Given the description of an element on the screen output the (x, y) to click on. 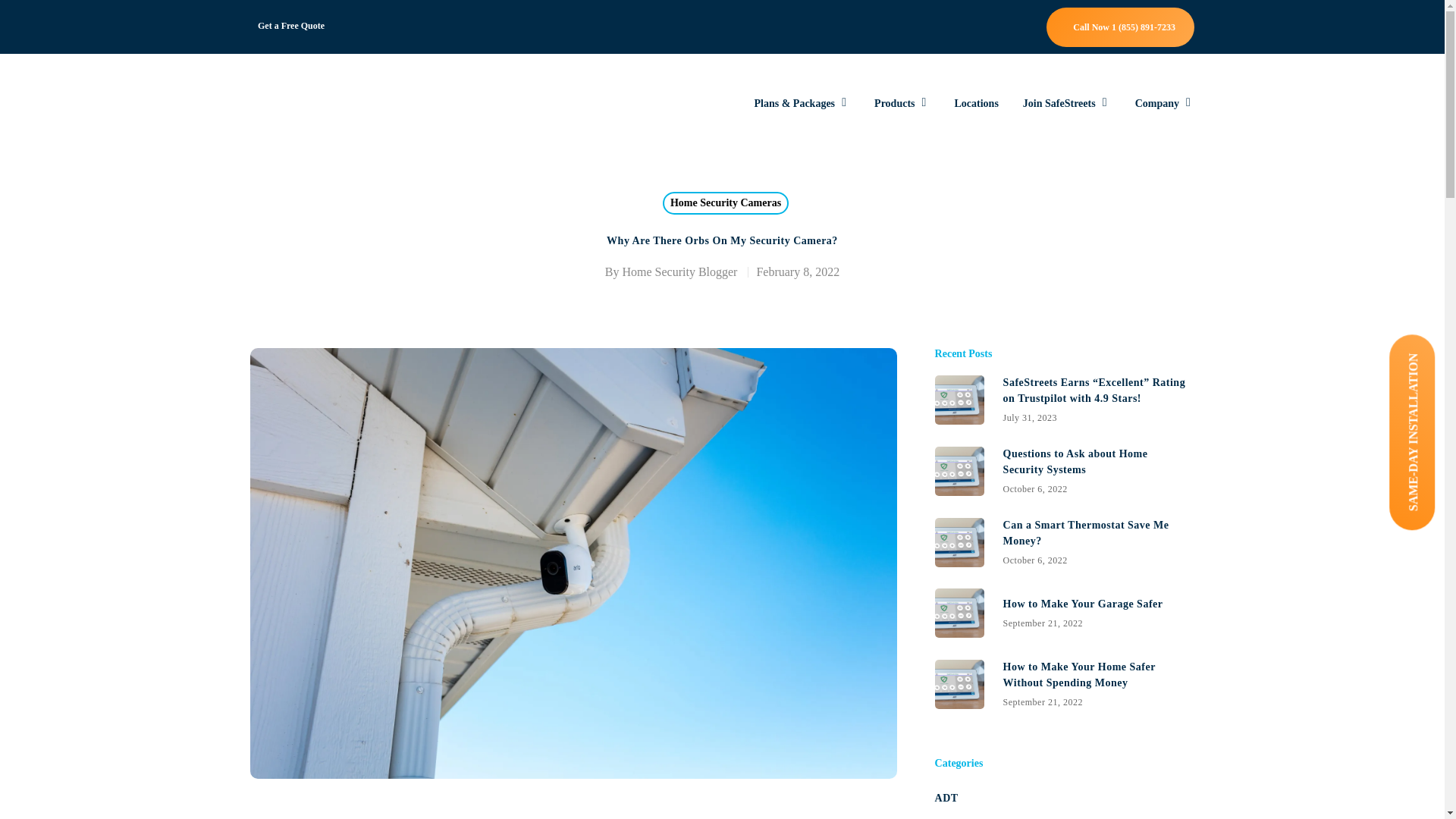
Join SafeStreets (1066, 103)
Products (1063, 470)
Home Security Cameras (902, 103)
Get a Free Quote (725, 202)
Locations (290, 25)
Posts by Home Security Blogger (975, 103)
Company (678, 271)
Home Security Blogger (1164, 103)
